Given the description of an element on the screen output the (x, y) to click on. 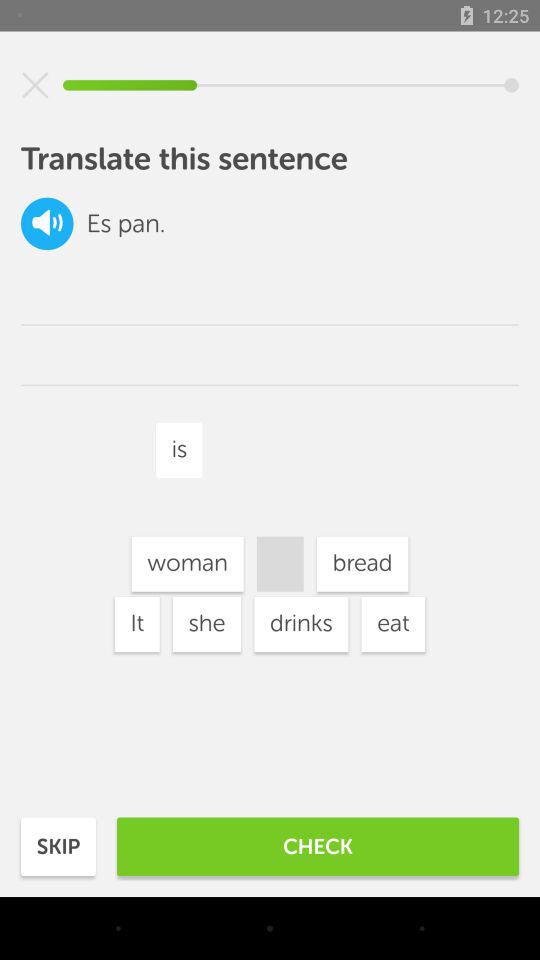
stop translation (35, 85)
